Given the description of an element on the screen output the (x, y) to click on. 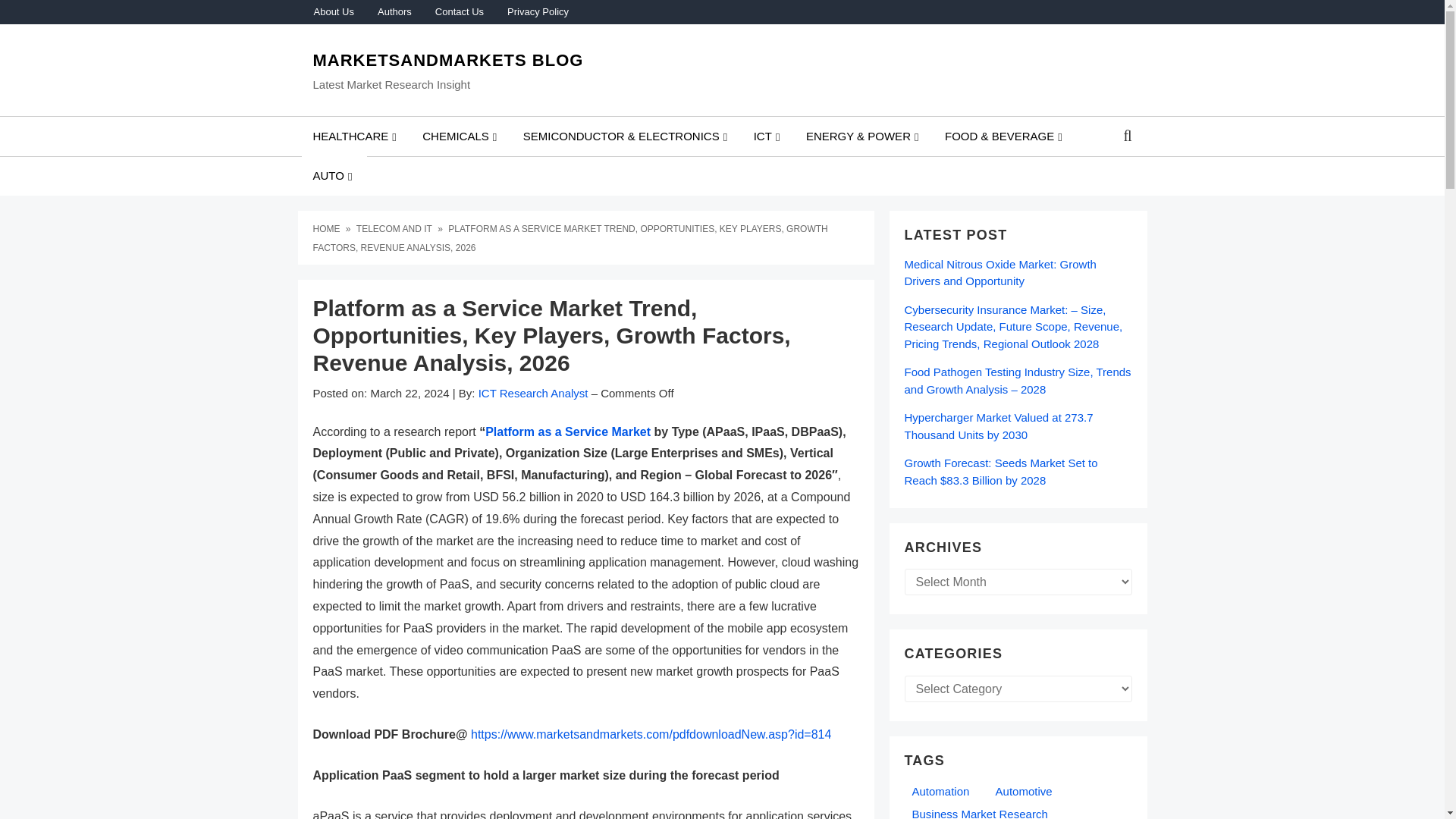
Authors (394, 12)
Contact Us (459, 12)
Privacy Policy (537, 12)
MARKETSANDMARKETS BLOG (448, 60)
About Us (333, 12)
Home (327, 227)
Telecom and IT (395, 227)
